Given the description of an element on the screen output the (x, y) to click on. 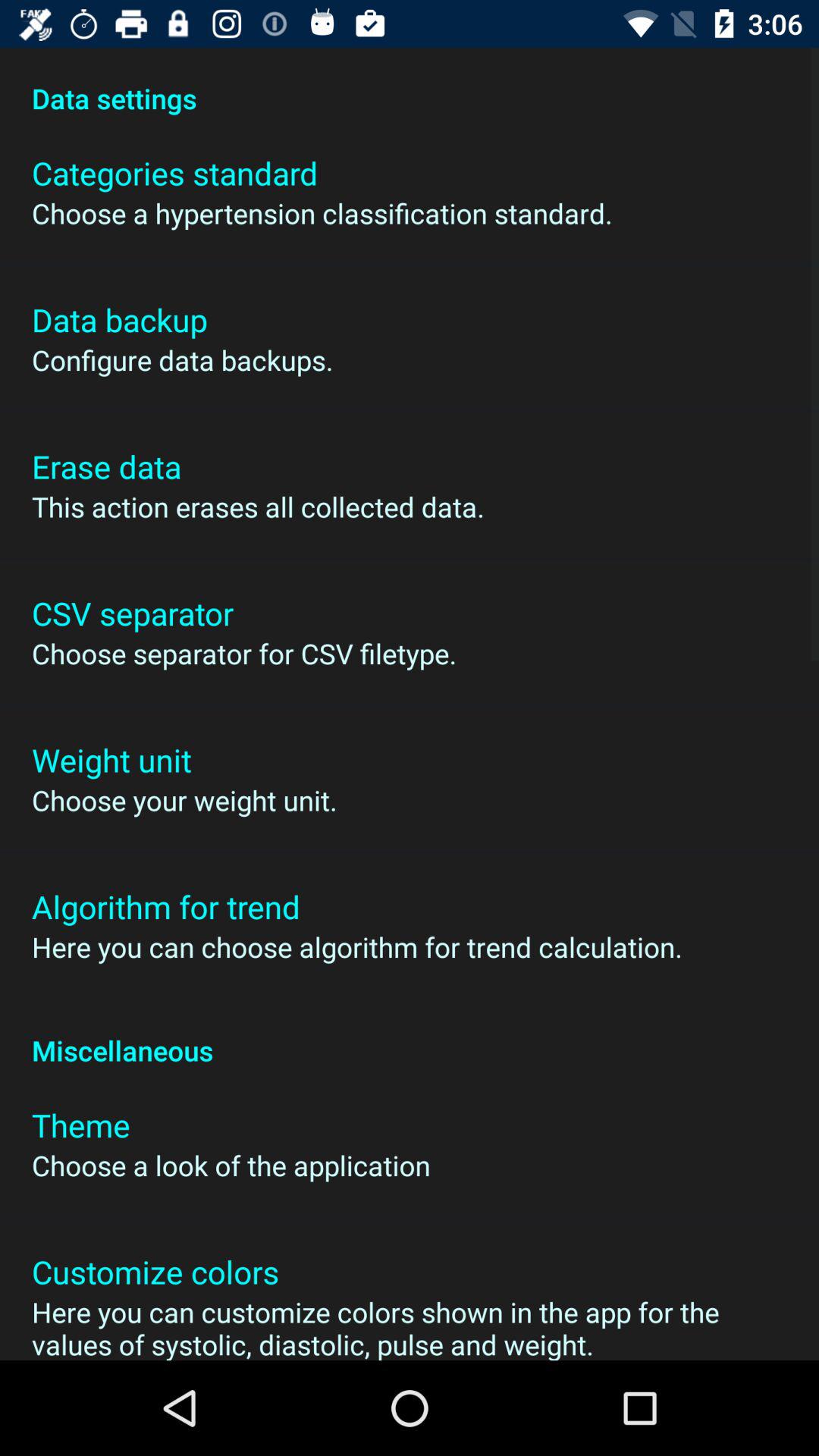
launch icon below weight unit app (184, 800)
